Given the description of an element on the screen output the (x, y) to click on. 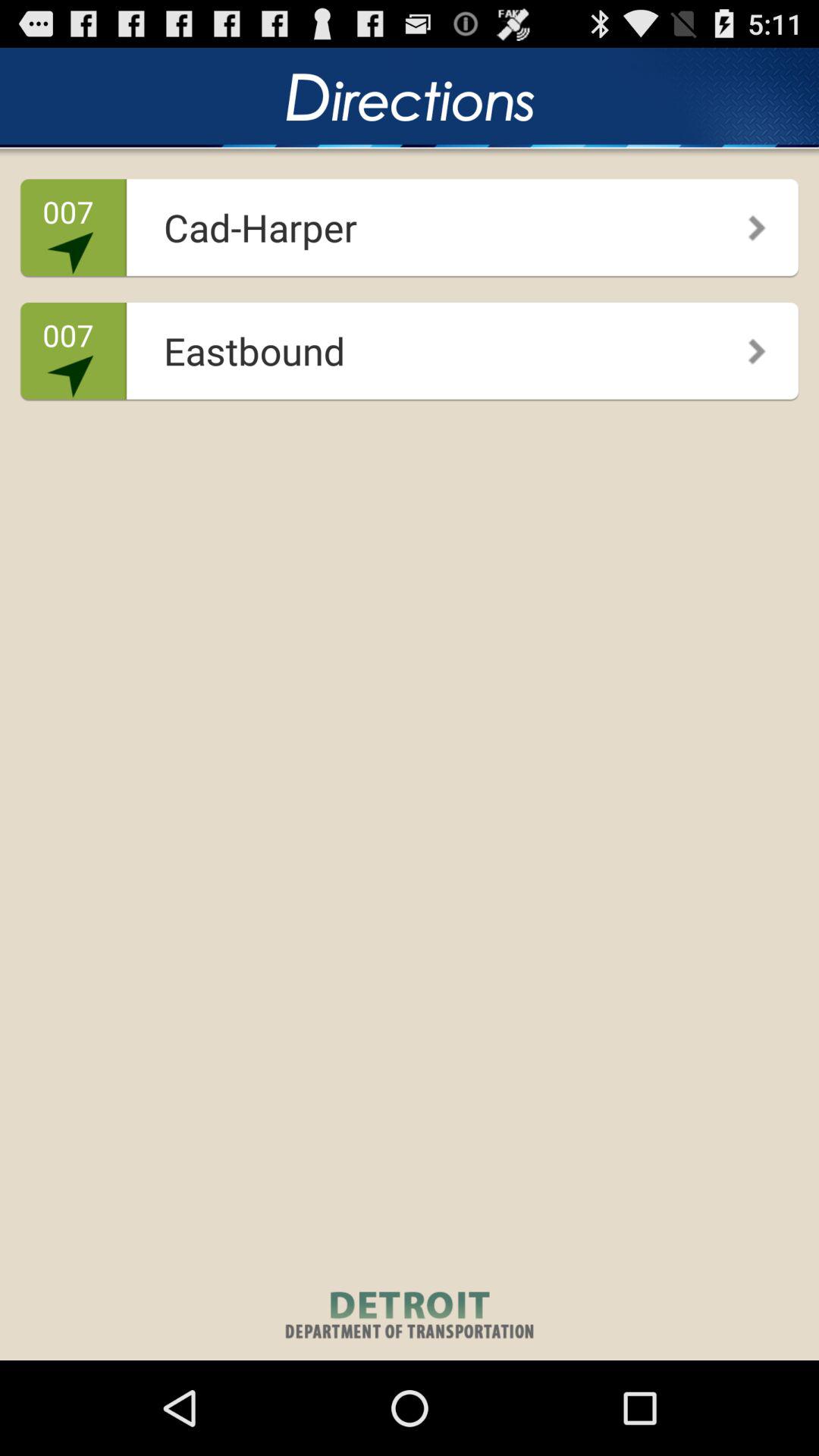
select the icon to the right of eastbound app (746, 345)
